Given the description of an element on the screen output the (x, y) to click on. 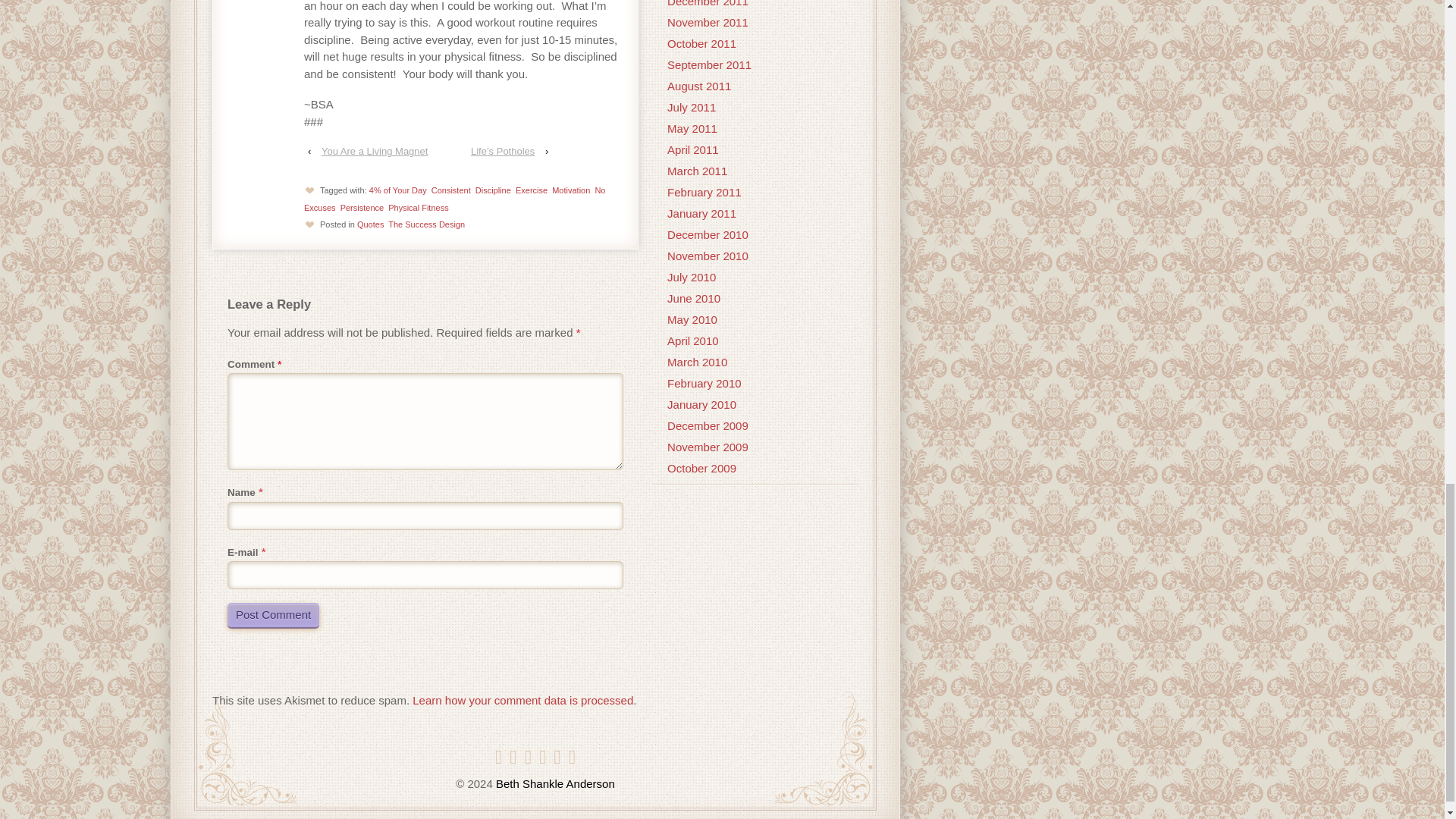
Physical Fitness (418, 207)
Learn how your comment data is processed (522, 699)
Post Comment (272, 614)
Persistence (362, 207)
Motivation (570, 189)
Discipline (493, 189)
The Success Design (426, 224)
Beth Shankle Anderson (553, 783)
Quotes (370, 224)
Post Comment (272, 614)
Exercise (531, 189)
No Excuses (454, 198)
Consistent (450, 189)
You Are a Living Magnet (374, 150)
